Given the description of an element on the screen output the (x, y) to click on. 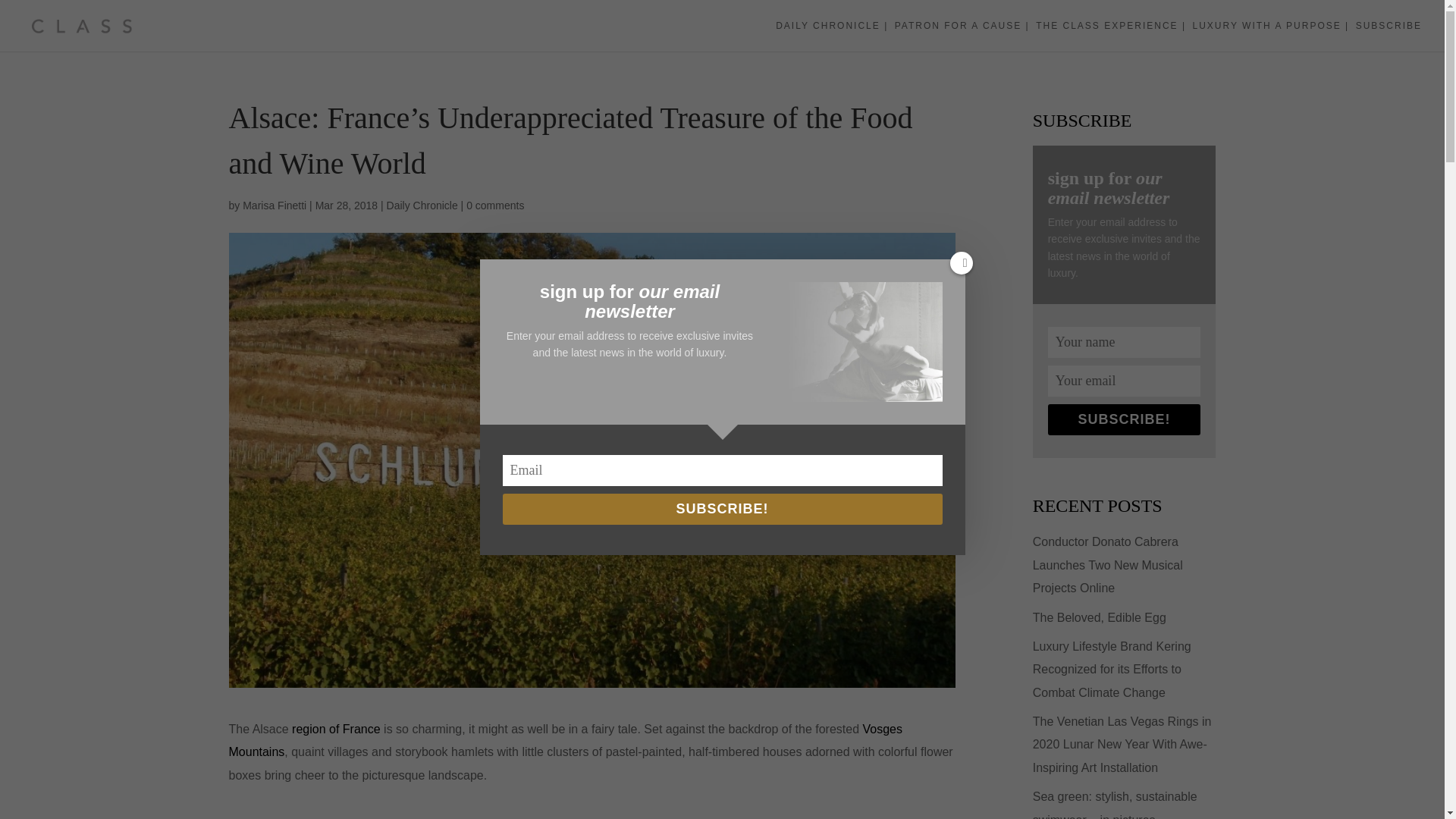
Posts by Marisa Finetti (274, 205)
Vosges Mountains (565, 740)
Marisa Finetti (274, 205)
LUXURY WITH A PURPOSE (1270, 35)
DAILY CHRONICLE (832, 35)
0 comments (494, 205)
SUBSCRIBE! (1124, 419)
region of France (336, 728)
SUBSCRIBE (1388, 35)
The Beloved, Edible Egg (1099, 617)
PATRON FOR A CAUSE (962, 35)
THE CLASS EXPERIENCE (1110, 35)
Domaines Schlumberger (592, 809)
